Given the description of an element on the screen output the (x, y) to click on. 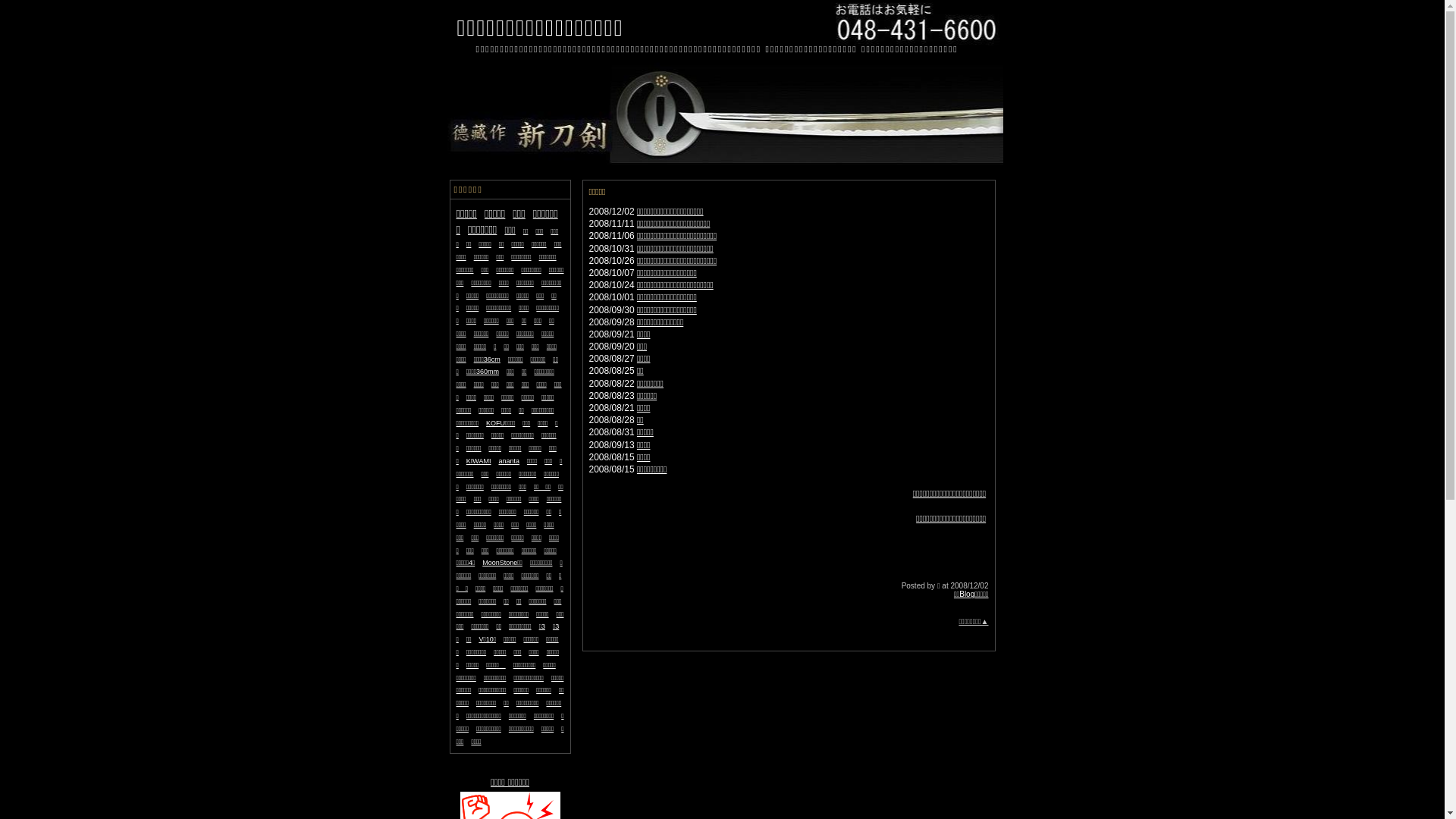
ananta Element type: text (509, 460)
KIWAMI Element type: text (478, 460)
